Given the description of an element on the screen output the (x, y) to click on. 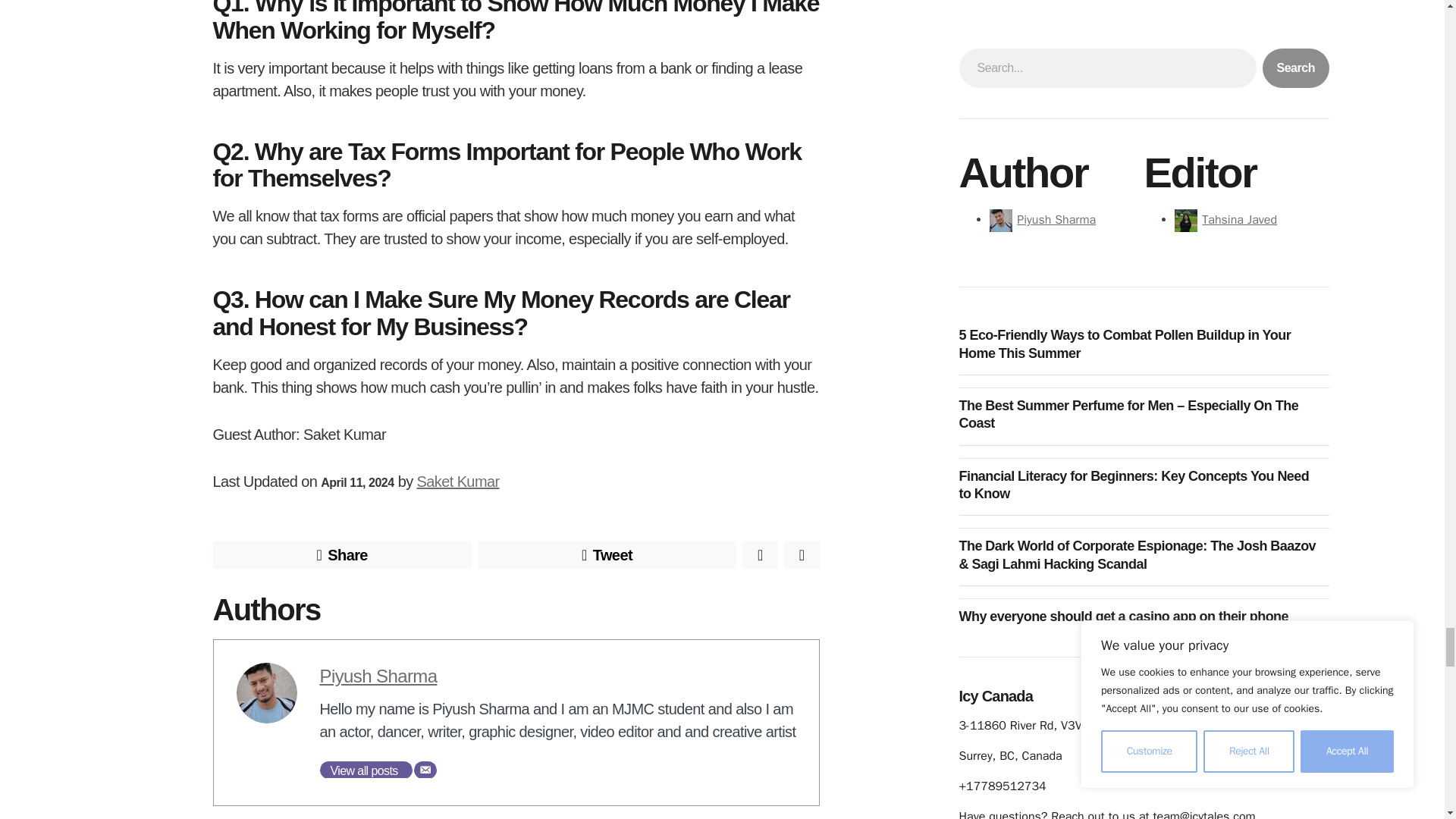
View all posts (366, 769)
Piyush Sharma (379, 675)
